Given the description of an element on the screen output the (x, y) to click on. 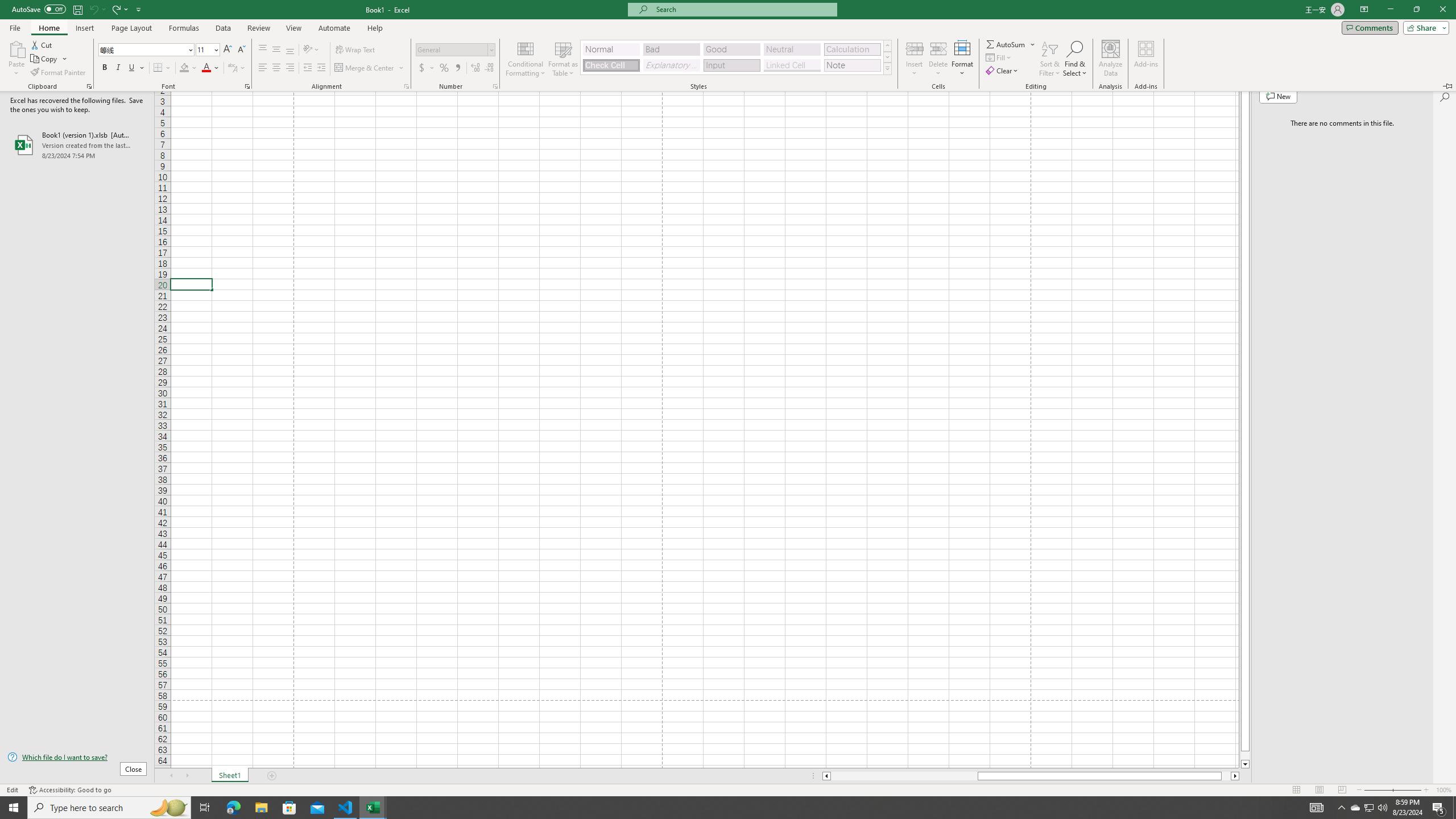
View (293, 28)
Line down (1245, 764)
Redo (1355, 807)
AutoSave (119, 9)
Home (38, 9)
Running applications (48, 28)
Scroll Right (717, 807)
Formulas (187, 775)
Redo (184, 28)
Zoom In (115, 9)
Customize Quick Access Toolbar (1426, 790)
Insert (139, 9)
